Given the description of an element on the screen output the (x, y) to click on. 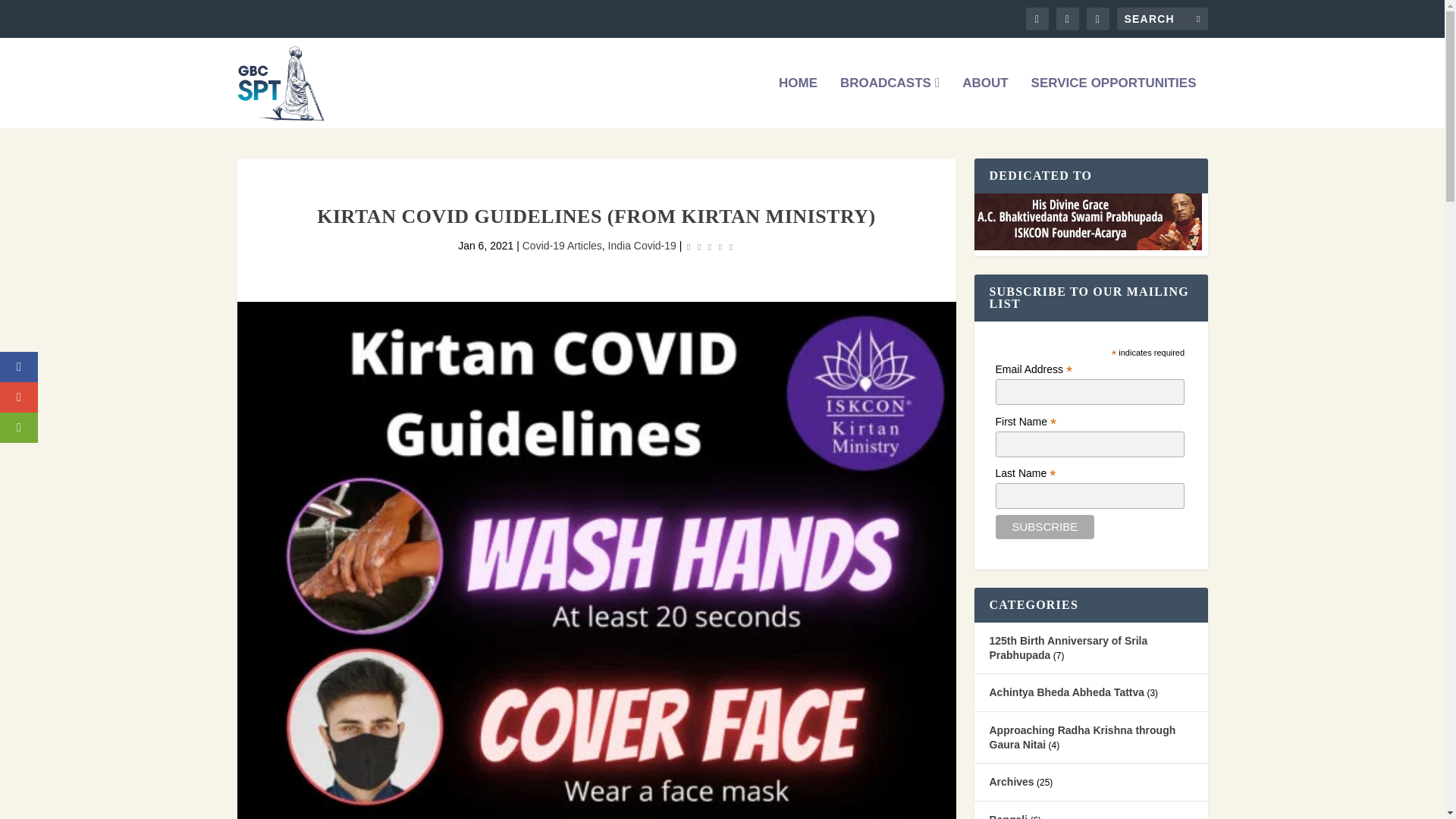
Search for: (1161, 18)
BROADCASTS (889, 101)
Rating: 0.50 (709, 246)
Subscribe (1044, 526)
SERVICE OPPORTUNITIES (1113, 101)
ABOUT (984, 101)
